Given the description of an element on the screen output the (x, y) to click on. 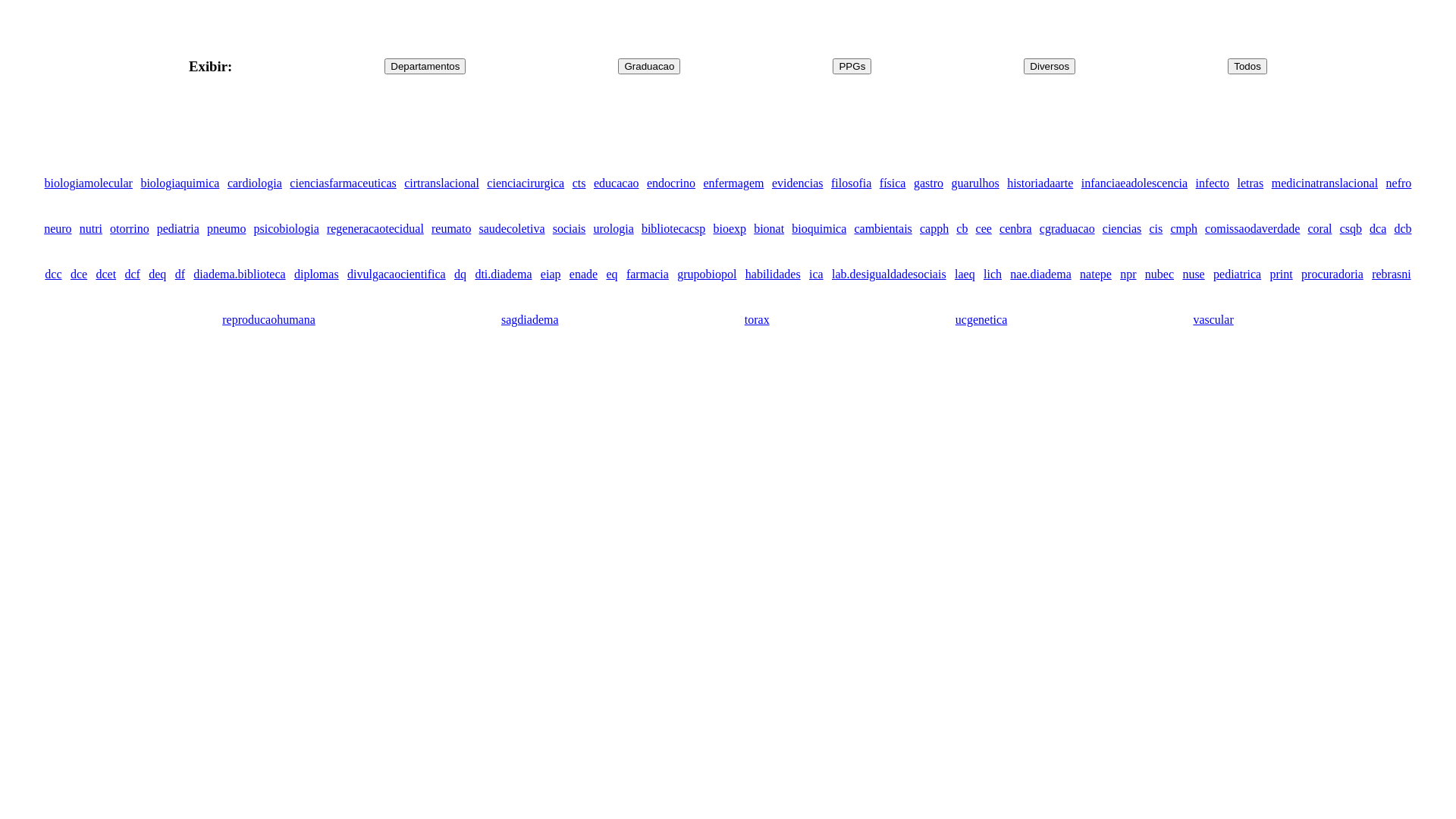
procuradoria Element type: text (1332, 273)
dcet Element type: text (105, 273)
nutri Element type: text (90, 228)
bionat Element type: text (768, 228)
bibliotecacsp Element type: text (673, 228)
eq Element type: text (611, 273)
PPGs Element type: text (851, 66)
infanciaeadolescencia Element type: text (1134, 182)
dq Element type: text (460, 273)
cardiologia Element type: text (254, 182)
vascular Element type: text (1212, 319)
cenbra Element type: text (1015, 228)
letras Element type: text (1250, 182)
Departamentos Element type: text (424, 66)
evidencias Element type: text (797, 182)
lich Element type: text (992, 273)
df Element type: text (180, 273)
grupobiopol Element type: text (706, 273)
psicobiologia Element type: text (286, 228)
cienciasfarmaceuticas Element type: text (342, 182)
Todos Element type: text (1247, 66)
ucgenetica Element type: text (981, 319)
dce Element type: text (78, 273)
dcf Element type: text (131, 273)
eiap Element type: text (550, 273)
neuro Element type: text (57, 228)
reumato Element type: text (450, 228)
dca Element type: text (1377, 228)
cee Element type: text (983, 228)
nuse Element type: text (1193, 273)
laeq Element type: text (964, 273)
cirtranslacional Element type: text (441, 182)
regeneracaotecidual Element type: text (374, 228)
cis Element type: text (1155, 228)
ciencias Element type: text (1122, 228)
bioquimica Element type: text (818, 228)
comissaodaverdade Element type: text (1251, 228)
nae.diadema Element type: text (1040, 273)
filosofia Element type: text (851, 182)
biologiaquimica Element type: text (179, 182)
coral Element type: text (1319, 228)
guarulhos Element type: text (975, 182)
enfermagem Element type: text (732, 182)
npr Element type: text (1127, 273)
cambientais Element type: text (882, 228)
urologia Element type: text (613, 228)
rebrasni Element type: text (1391, 273)
farmacia Element type: text (647, 273)
educacao Element type: text (616, 182)
otorrino Element type: text (129, 228)
nubec Element type: text (1159, 273)
diplomas Element type: text (316, 273)
dcc Element type: text (52, 273)
reproducaohumana Element type: text (268, 319)
nefro Element type: text (1399, 182)
print Element type: text (1280, 273)
cgraduacao Element type: text (1067, 228)
sociais Element type: text (569, 228)
torax Element type: text (756, 319)
pediatria Element type: text (177, 228)
gastro Element type: text (928, 182)
enade Element type: text (583, 273)
cb Element type: text (961, 228)
ica Element type: text (816, 273)
divulgacaocientifica Element type: text (396, 273)
csqb Element type: text (1350, 228)
Diversos Element type: text (1049, 66)
Graduacao Element type: text (649, 66)
bioexp Element type: text (729, 228)
cmph Element type: text (1183, 228)
cts Element type: text (579, 182)
saudecoletiva Element type: text (512, 228)
natepe Element type: text (1095, 273)
endocrino Element type: text (670, 182)
diadema.biblioteca Element type: text (239, 273)
cienciacirurgica Element type: text (525, 182)
capph Element type: text (933, 228)
pediatrica Element type: text (1237, 273)
biologiamolecular Element type: text (87, 182)
sagdiadema Element type: text (529, 319)
dti.diadema Element type: text (502, 273)
deq Element type: text (157, 273)
historiadaarte Element type: text (1040, 182)
habilidades Element type: text (772, 273)
medicinatranslacional Element type: text (1324, 182)
pneumo Element type: text (226, 228)
lab.desigualdadesociais Element type: text (888, 273)
dcb Element type: text (1402, 228)
infecto Element type: text (1212, 182)
